Given the description of an element on the screen output the (x, y) to click on. 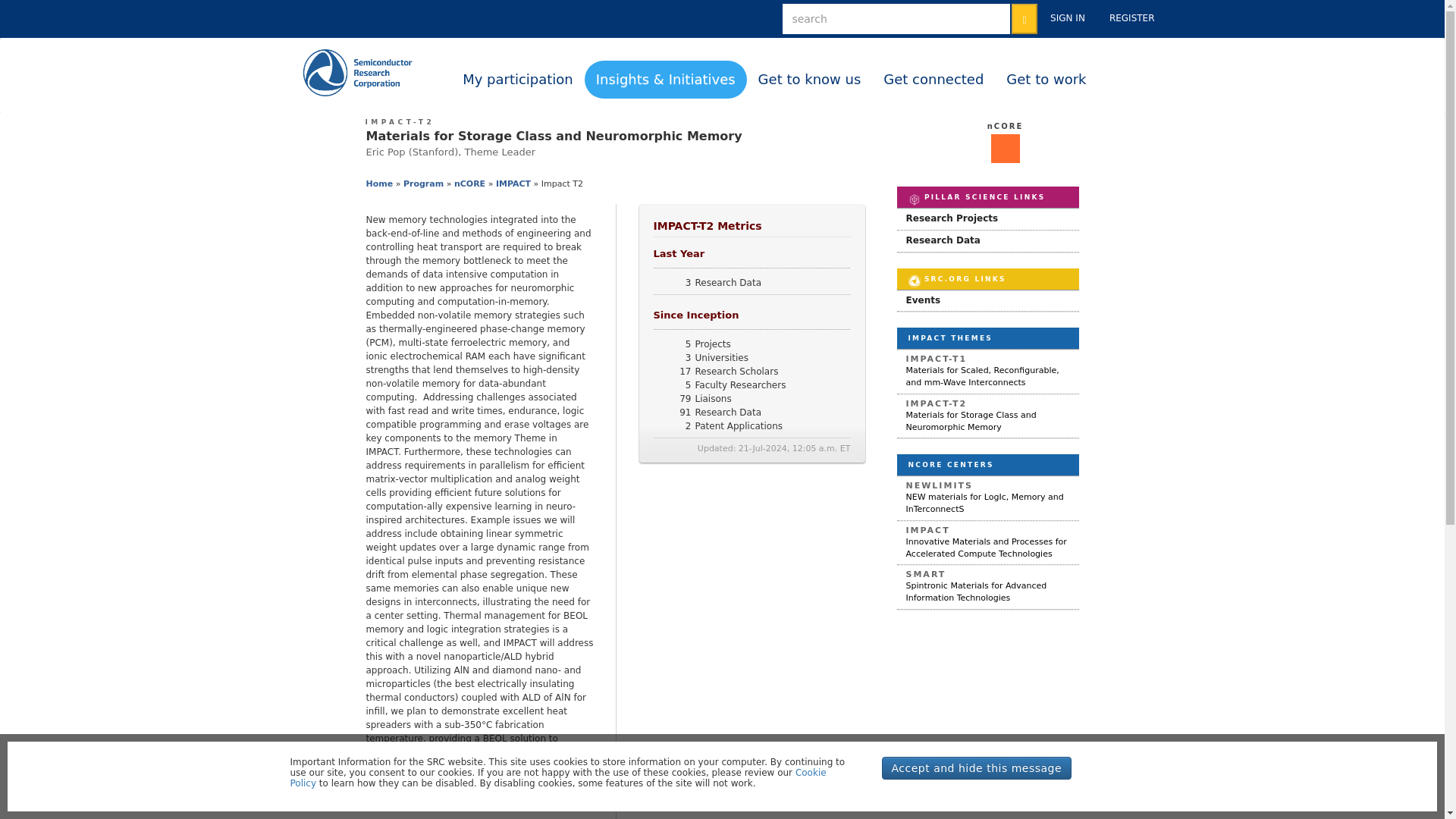
Get connected (933, 79)
Nanoelectronic Computing Research (1005, 126)
Get to work (1045, 79)
REGISTER (1131, 17)
Register for an account (1131, 17)
My participation (518, 79)
Get to know us (809, 79)
SIGN IN (1067, 17)
Materials for Storage Class and Neuromorphic Memory (400, 121)
Sign in here to access all of your SRC content (1067, 17)
